Given the description of an element on the screen output the (x, y) to click on. 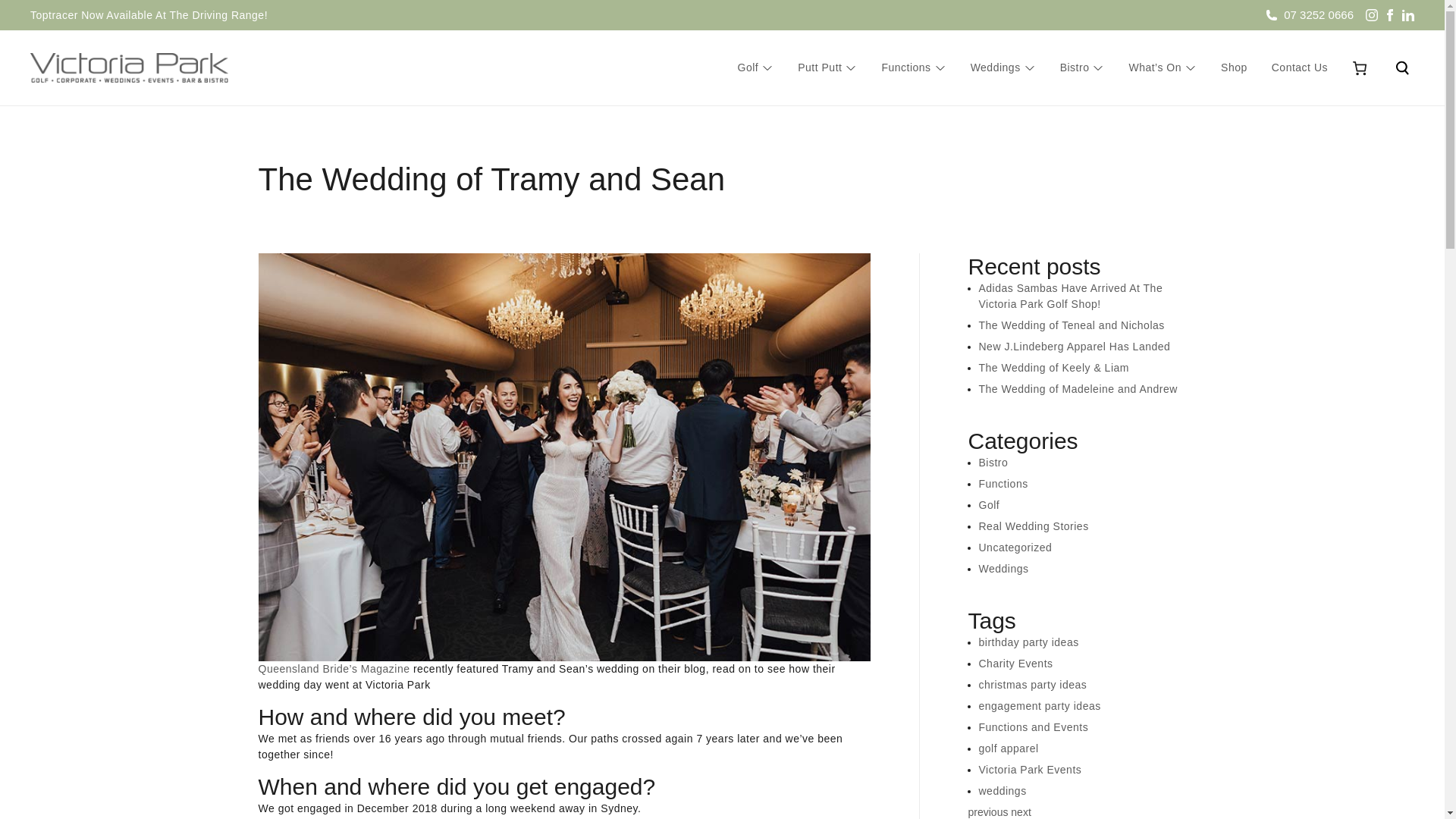
Uncategorized (1014, 547)
Bistro (1074, 67)
Weddings (995, 67)
Real Wedding Stories (1032, 526)
Weddings (1002, 568)
The Wedding of Teneal and Nicholas (1070, 325)
engagement party ideas (1039, 705)
Functions (1002, 483)
Functions (905, 67)
Adidas Sambas Have Arrived At The Victoria Park Golf Shop! (1069, 295)
